Given the description of an element on the screen output the (x, y) to click on. 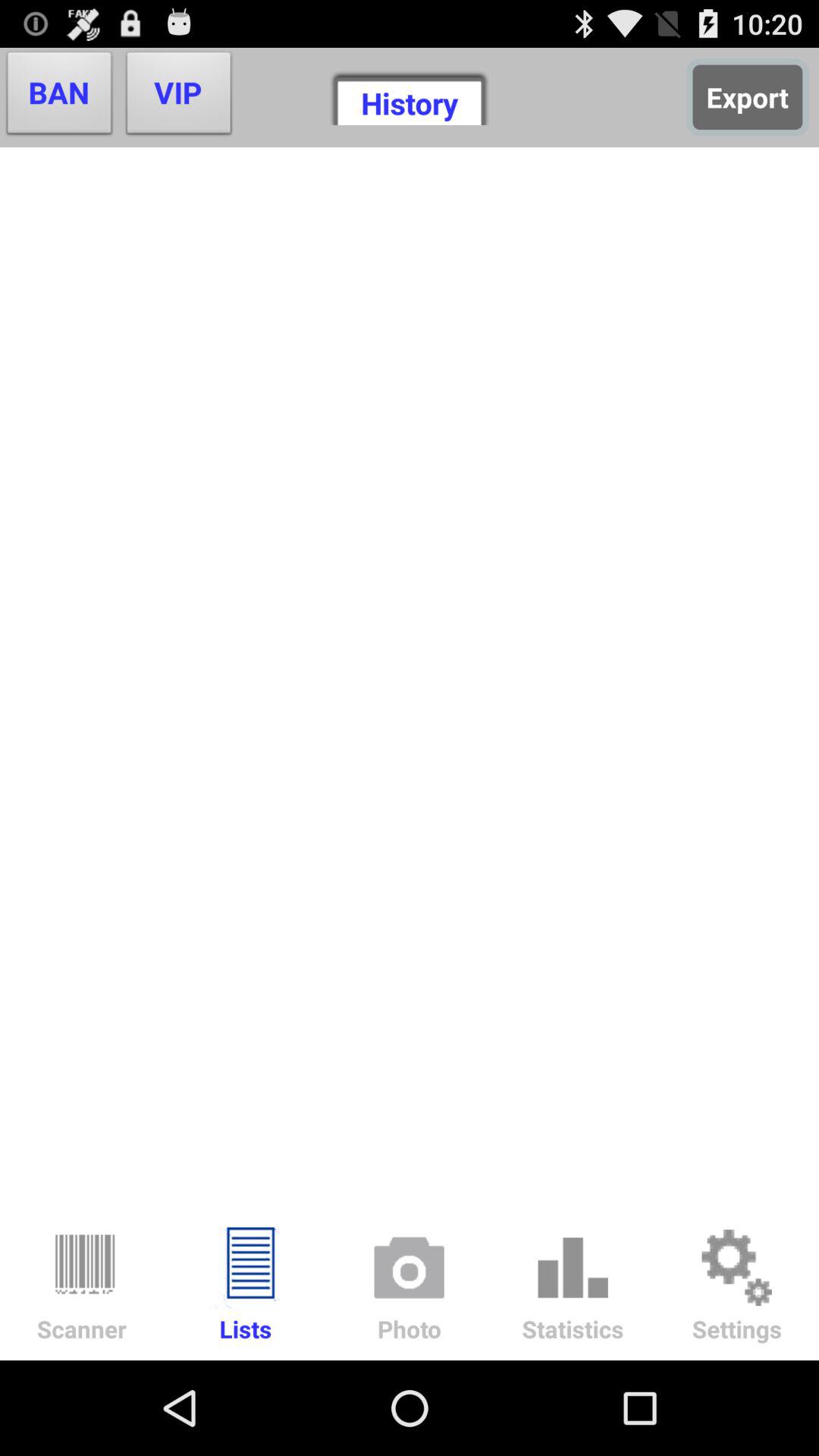
flip until export button (747, 96)
